Given the description of an element on the screen output the (x, y) to click on. 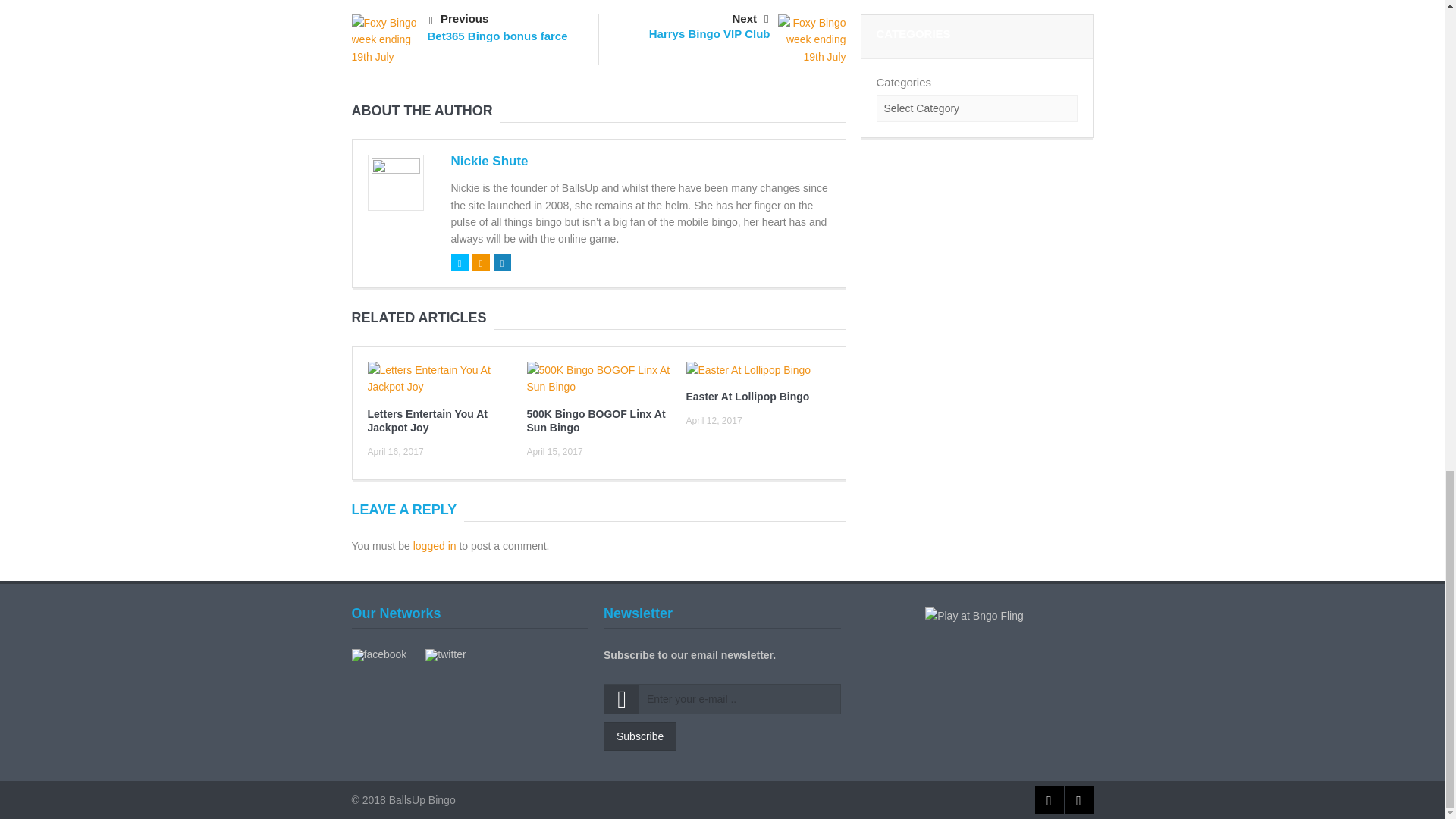
twitter (445, 654)
facebook (379, 654)
